Given the description of an element on the screen output the (x, y) to click on. 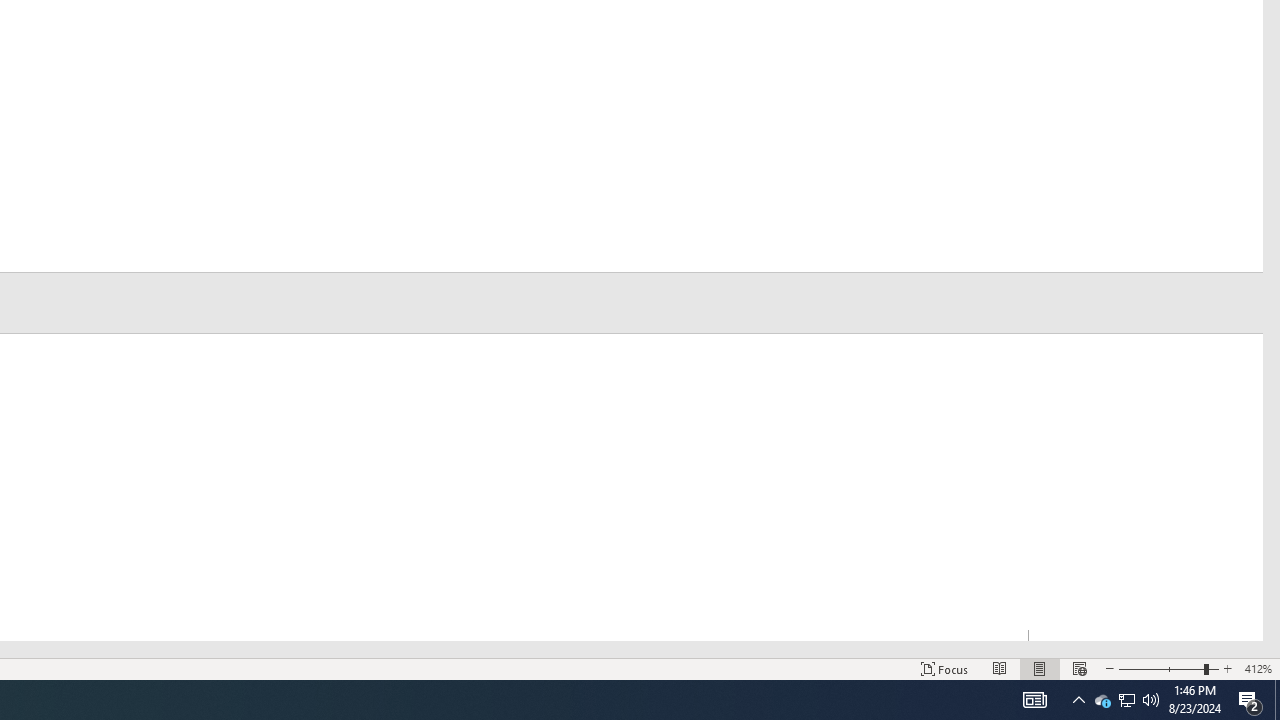
Show desktop (1277, 699)
Zoom (1168, 668)
AutomationID: 4105 (1034, 699)
Action Center, 2 new notifications (1250, 699)
Notification Chevron (1126, 699)
Q2790: 100% (1078, 699)
